Given the description of an element on the screen output the (x, y) to click on. 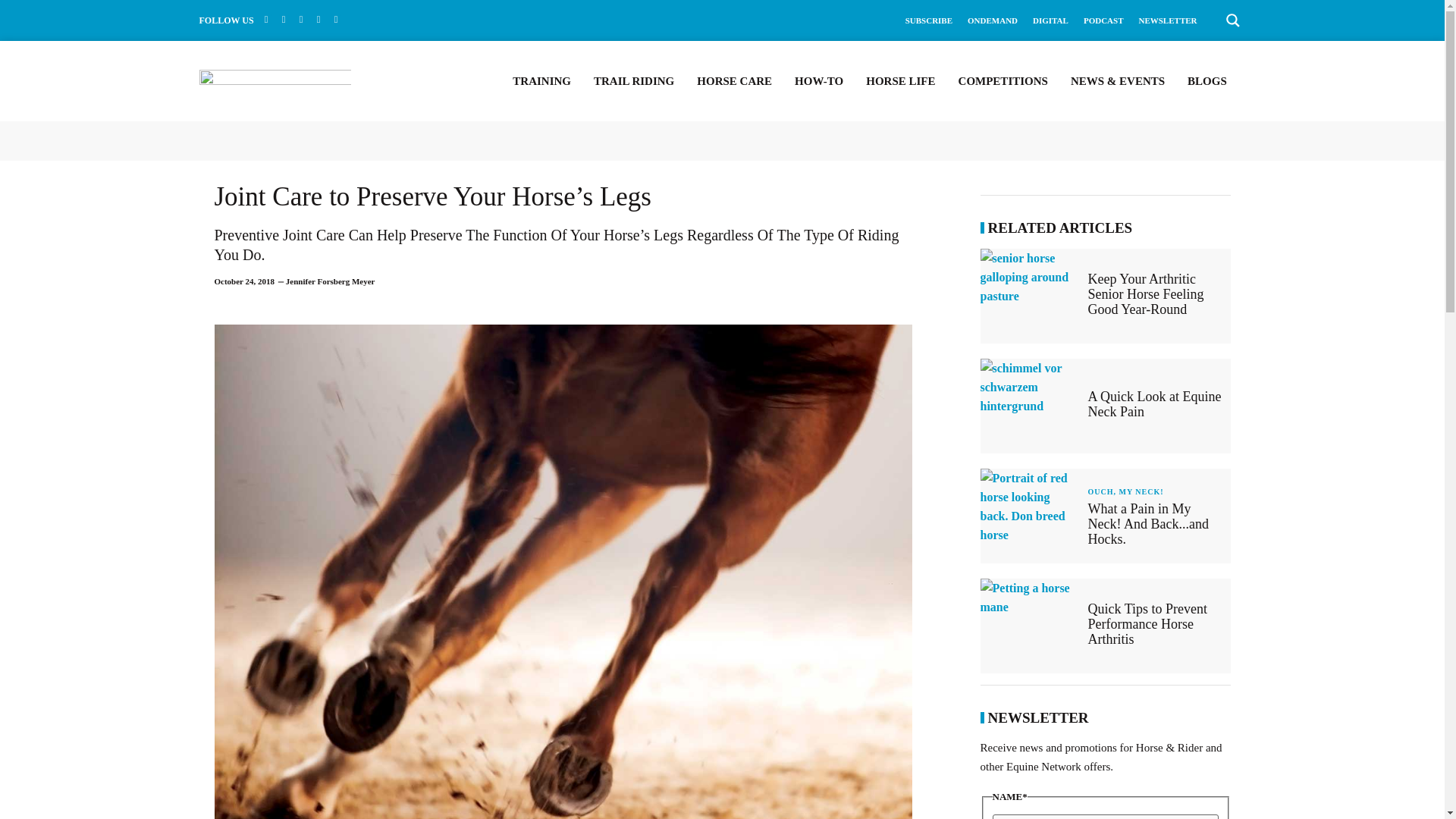
ONDEMAND (992, 20)
Quick Tips to Prevent Performance Horse Arthritis (1147, 624)
A Quick Look at Equine Neck Pain (1029, 405)
What a Pain in My Neck! And Back...and Hocks. (1029, 515)
TRAIL RIDING (634, 80)
PODCAST (1103, 20)
What a Pain in My Neck! And Back...and Hocks. (1147, 523)
DIGITAL (1050, 20)
Quick Tips to Prevent Performance Horse Arthritis (1029, 625)
TRAINING (541, 80)
Keep Your Arthritic Senior Horse Feeling Good Year-Round (1145, 293)
Keep Your Arthritic Senior Horse Feeling Good Year-Round (1029, 295)
SUBSCRIBE (928, 20)
A Quick Look at Equine Neck Pain (1154, 404)
NEWSLETTER (1167, 20)
